Given the description of an element on the screen output the (x, y) to click on. 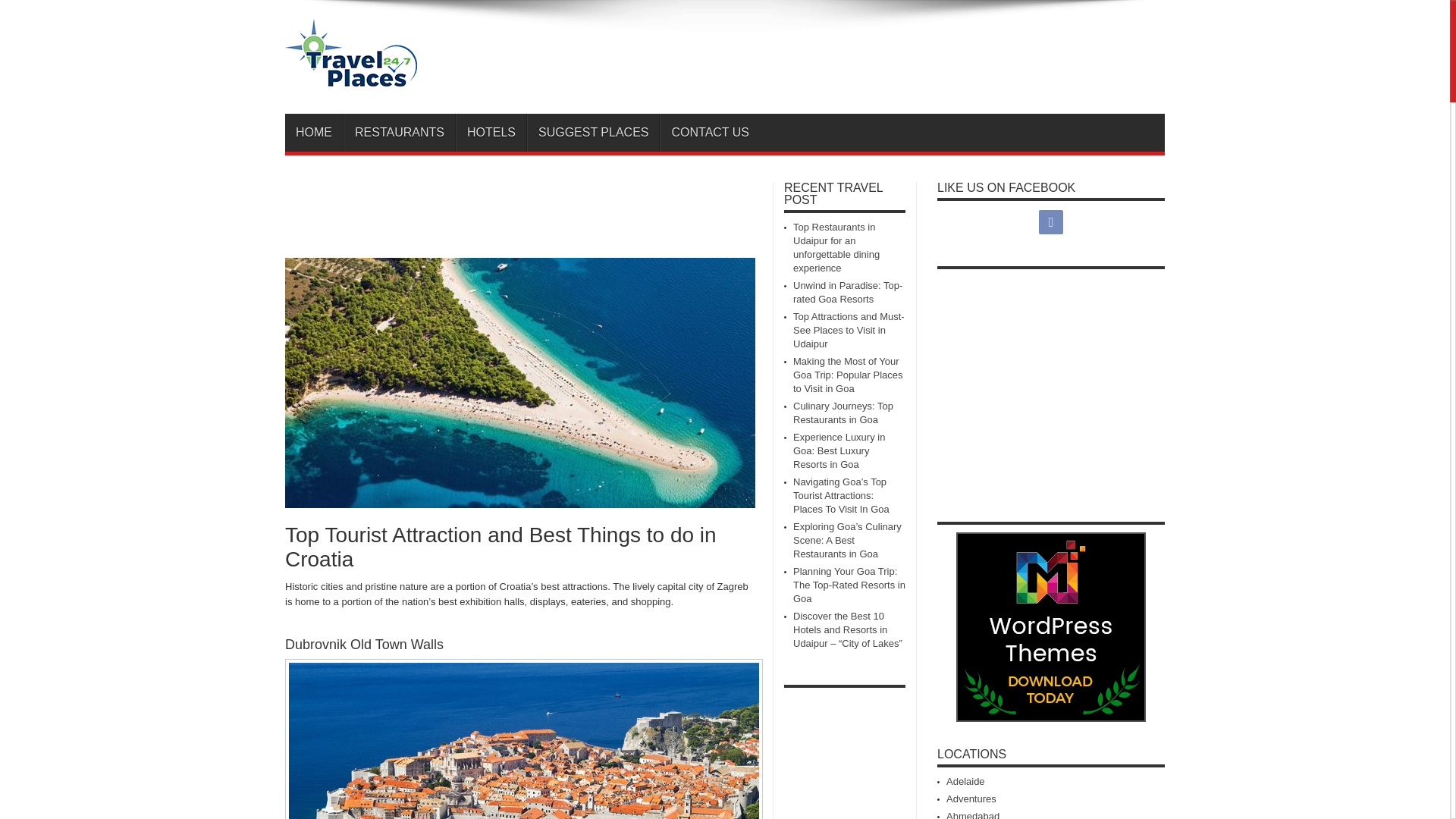
Unwind in Paradise: Top-rated Goa Resorts (847, 292)
Planning Your Goa Trip: The Top-Rated Resorts in Goa (849, 584)
RESTAURANTS (398, 132)
Adventures (970, 798)
Advertisement (1064, 382)
TRAVEL PLACES 24X7 (350, 75)
Advertisement (888, 59)
HOME (313, 132)
Experience Luxury in Goa: Best Luxury Resorts in Goa (839, 450)
Advertisement (844, 757)
Top Attractions and Must-See Places to Visit in Udaipur (848, 330)
SUGGEST PLACES (593, 132)
Ahmedabad (972, 814)
